Given the description of an element on the screen output the (x, y) to click on. 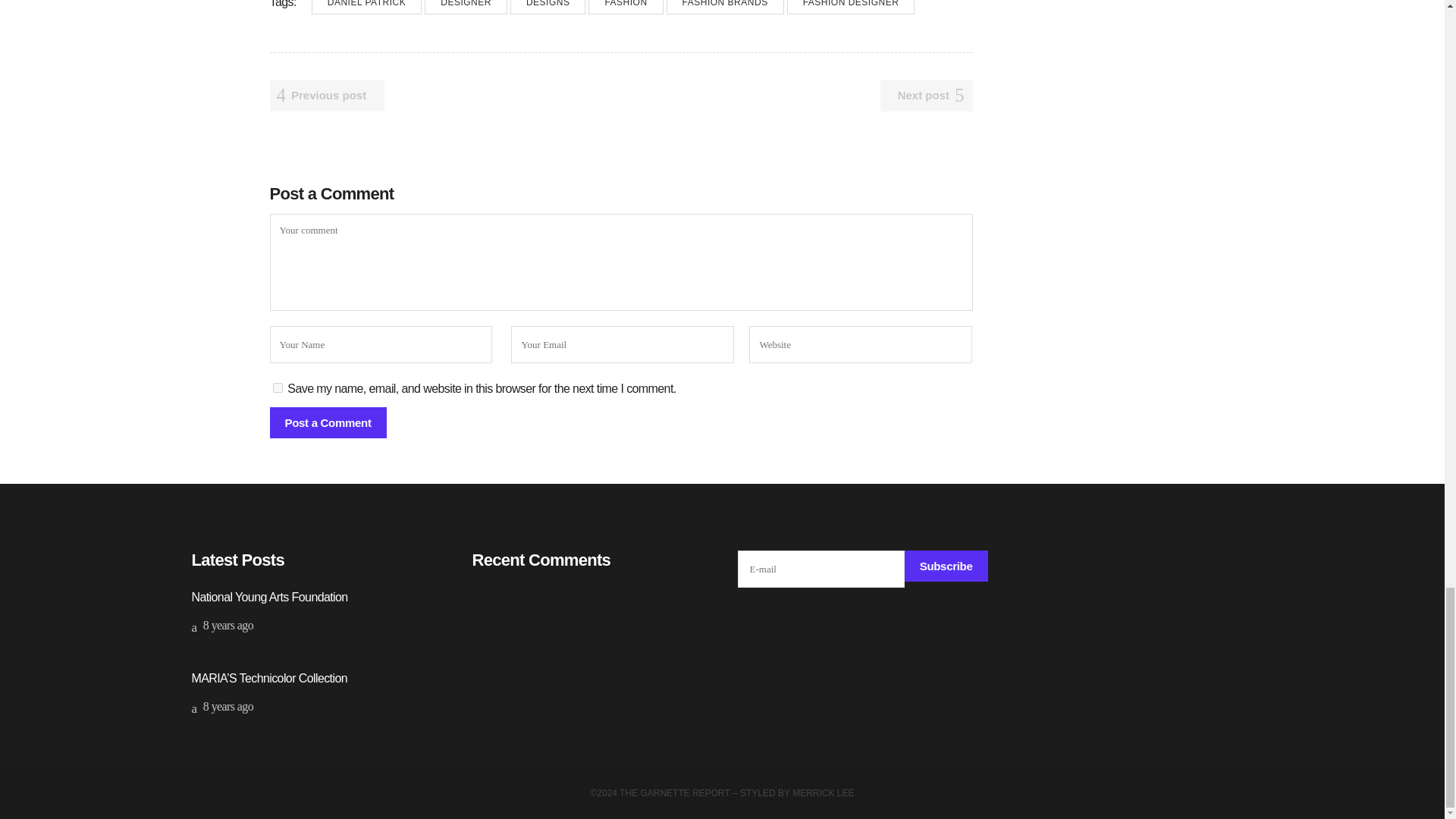
Post a Comment (328, 422)
National Young Arts Foundation (268, 596)
yes (277, 388)
Subscribe (946, 564)
